Given the description of an element on the screen output the (x, y) to click on. 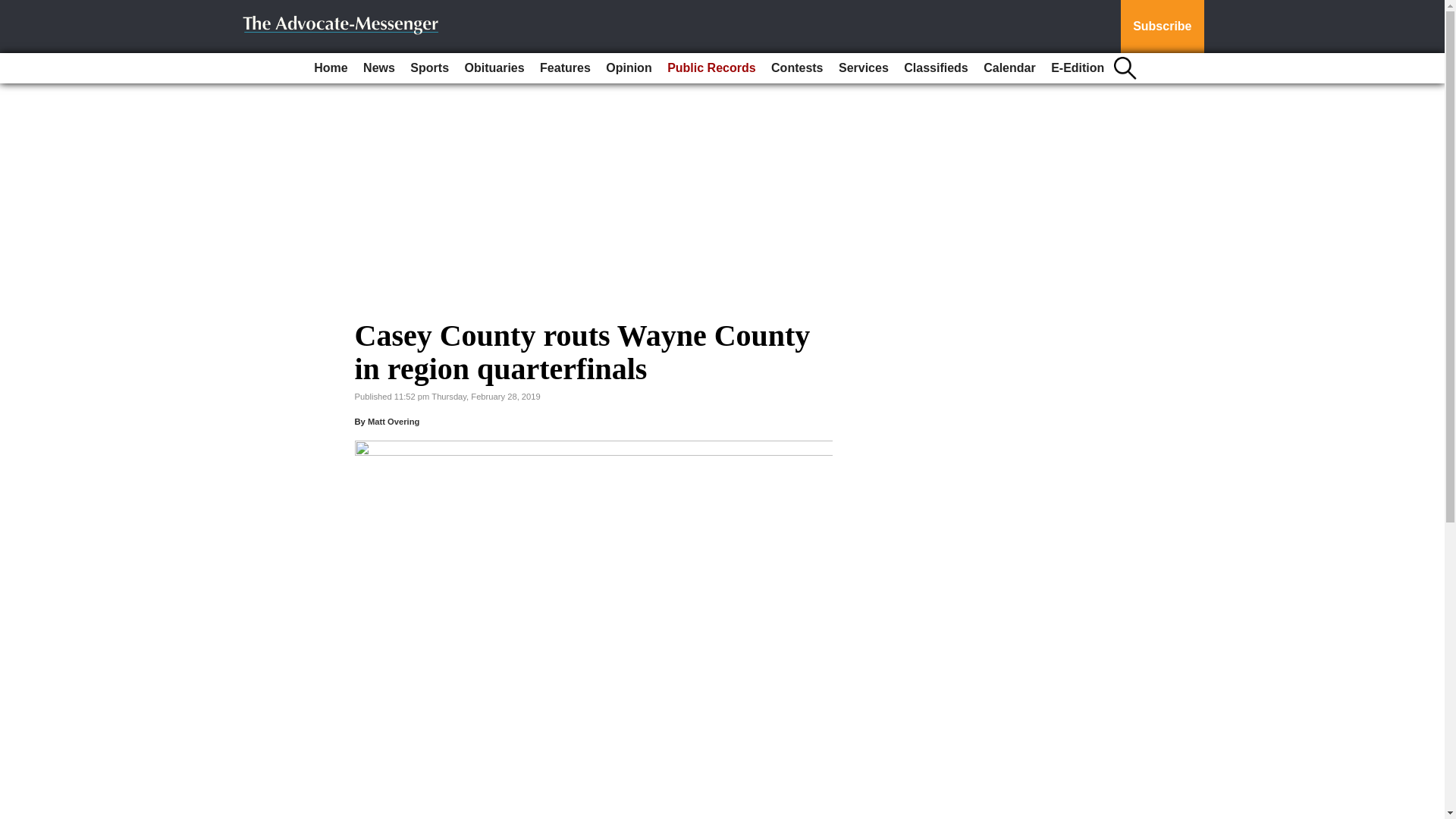
News (378, 68)
Matt Overing (393, 420)
Calendar (1008, 68)
Features (565, 68)
Contests (796, 68)
Go (13, 9)
Obituaries (493, 68)
Services (863, 68)
Subscribe (1162, 26)
Classifieds (936, 68)
